Given the description of an element on the screen output the (x, y) to click on. 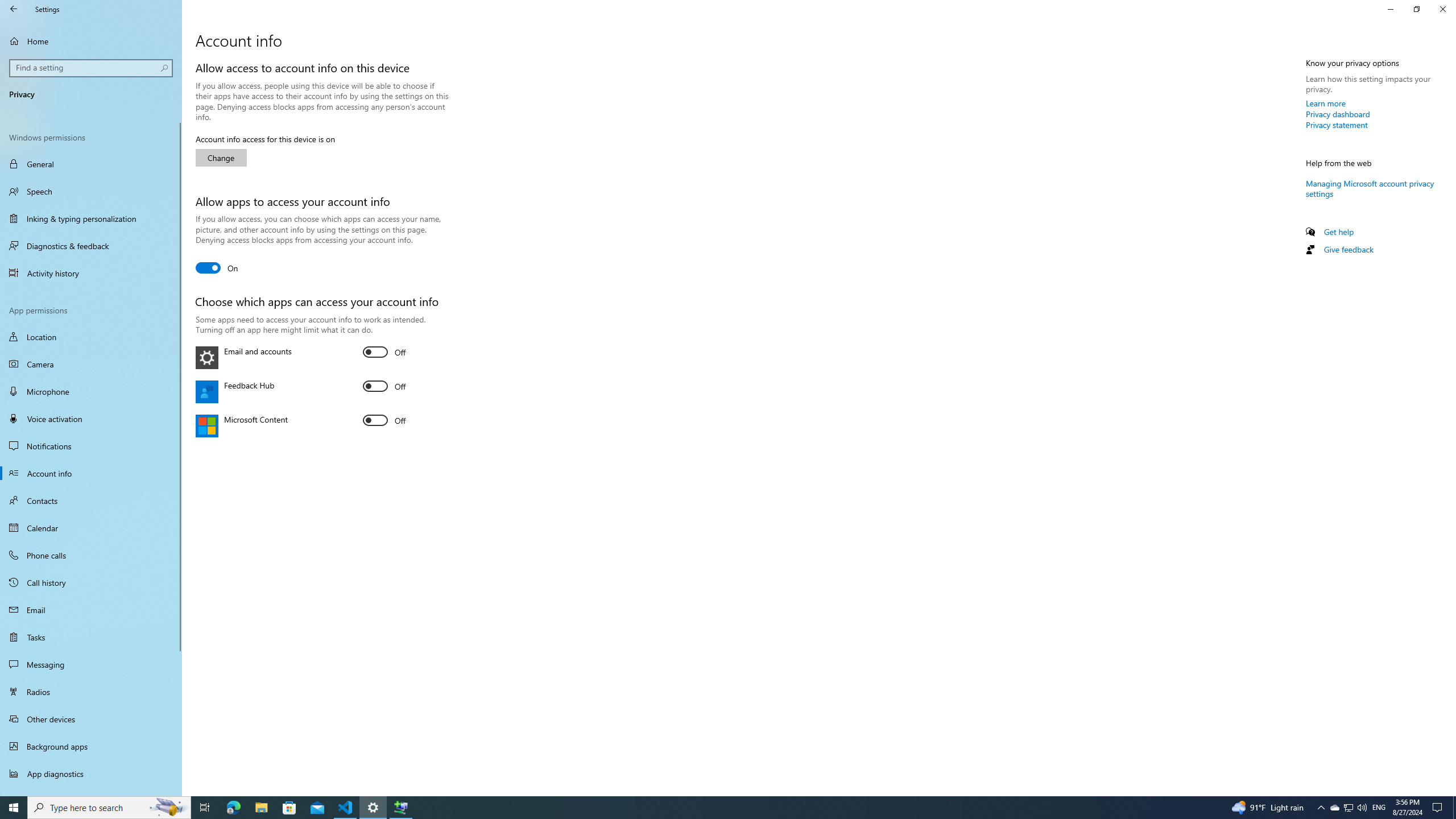
Contacts (91, 500)
Microphone (91, 390)
Activity history (91, 272)
Restore Settings (1416, 9)
Radios (91, 691)
Change (221, 157)
Messaging (91, 664)
Visual Studio Code - 1 running window (345, 807)
Speech (91, 190)
Location (91, 336)
Phone calls (91, 554)
Call history (91, 582)
Email and accounts (384, 352)
Learn more (1326, 102)
Tray Input Indicator - English (United States) (1378, 807)
